Given the description of an element on the screen output the (x, y) to click on. 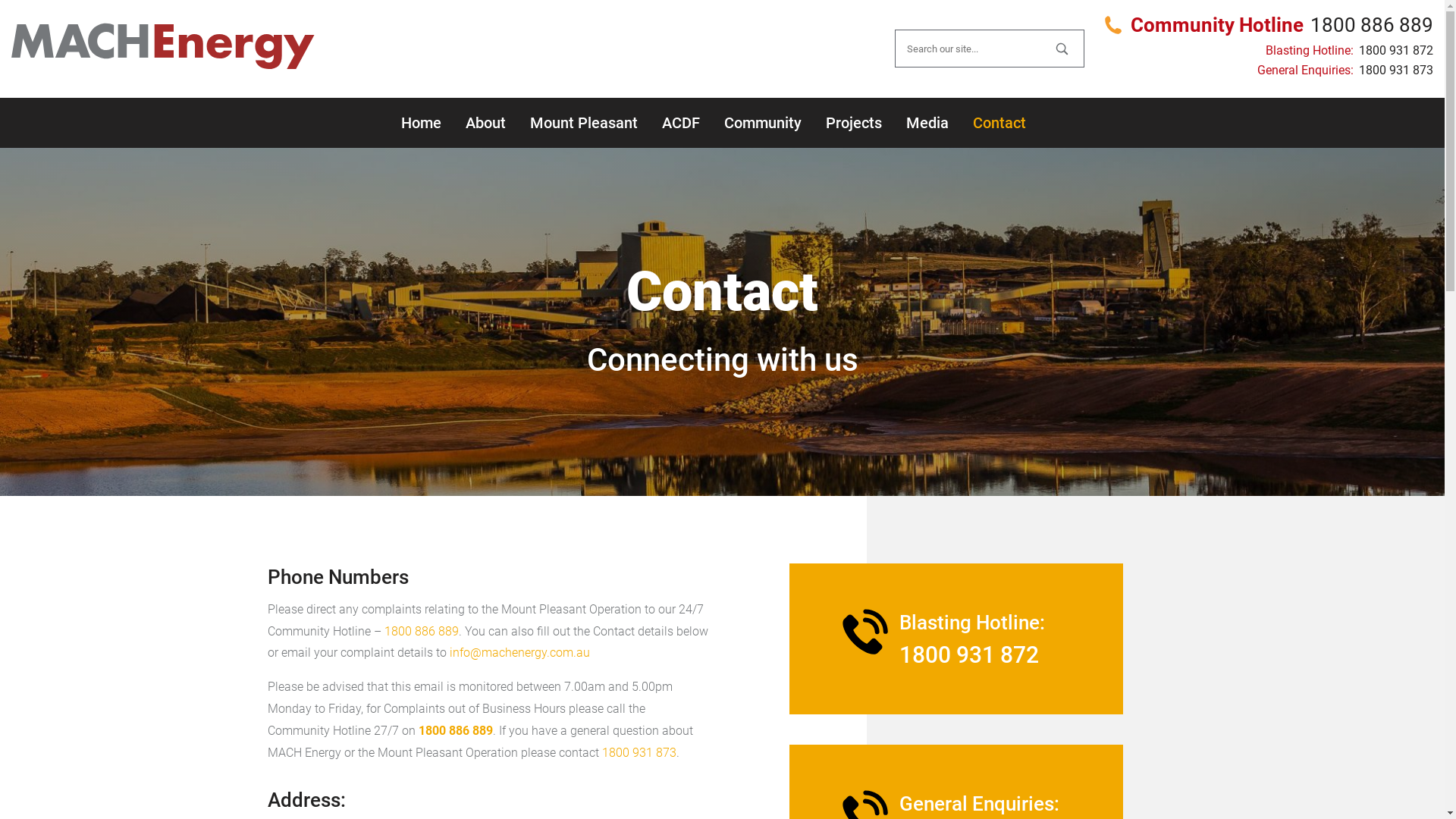
Search Element type: text (1061, 48)
Home Element type: text (420, 122)
Community Element type: text (761, 122)
About Element type: text (485, 122)
1800 886 889 Element type: text (455, 730)
1800 886 889 Element type: text (1370, 24)
Contact Element type: text (998, 122)
Mount Pleasant Element type: text (583, 122)
1800 931 872 Element type: text (968, 654)
info@machenergy.com.au Element type: text (519, 652)
1800 931 872 Element type: text (1394, 50)
Media Element type: text (926, 122)
Projects Element type: text (852, 122)
1800 931 873 Element type: text (639, 752)
1800 886 889 Element type: text (421, 631)
ACDF Element type: text (680, 122)
1800 931 873 Element type: text (1394, 69)
